Given the description of an element on the screen output the (x, y) to click on. 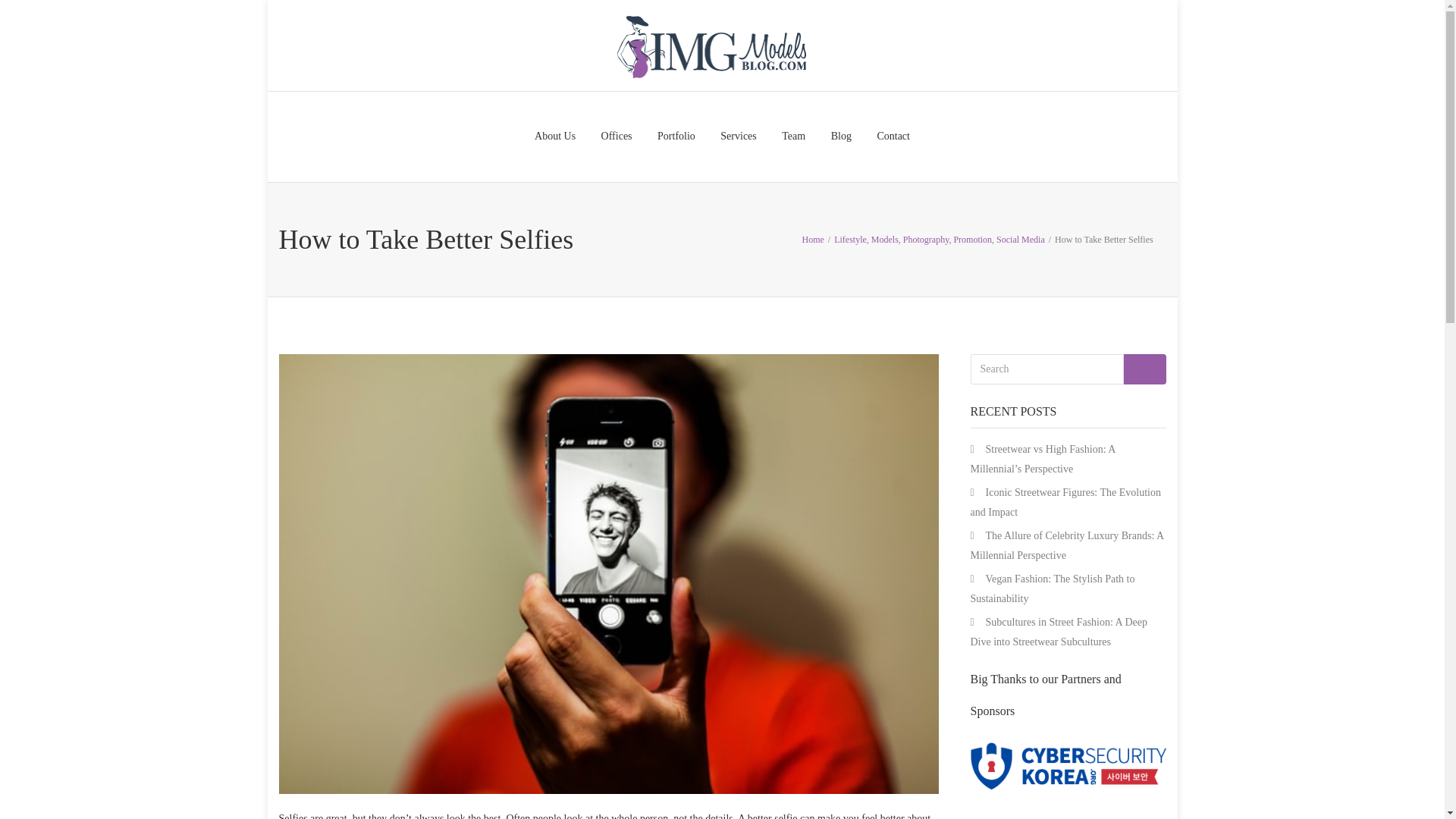
Iconic Streetwear Figures: The Evolution and Impact (1065, 501)
Models (884, 238)
Photography (925, 238)
Go (1145, 368)
Lifestyle (850, 238)
Home (813, 238)
IMG Models Blog -  (710, 45)
Social Media (1020, 238)
Promotion (972, 238)
